Given the description of an element on the screen output the (x, y) to click on. 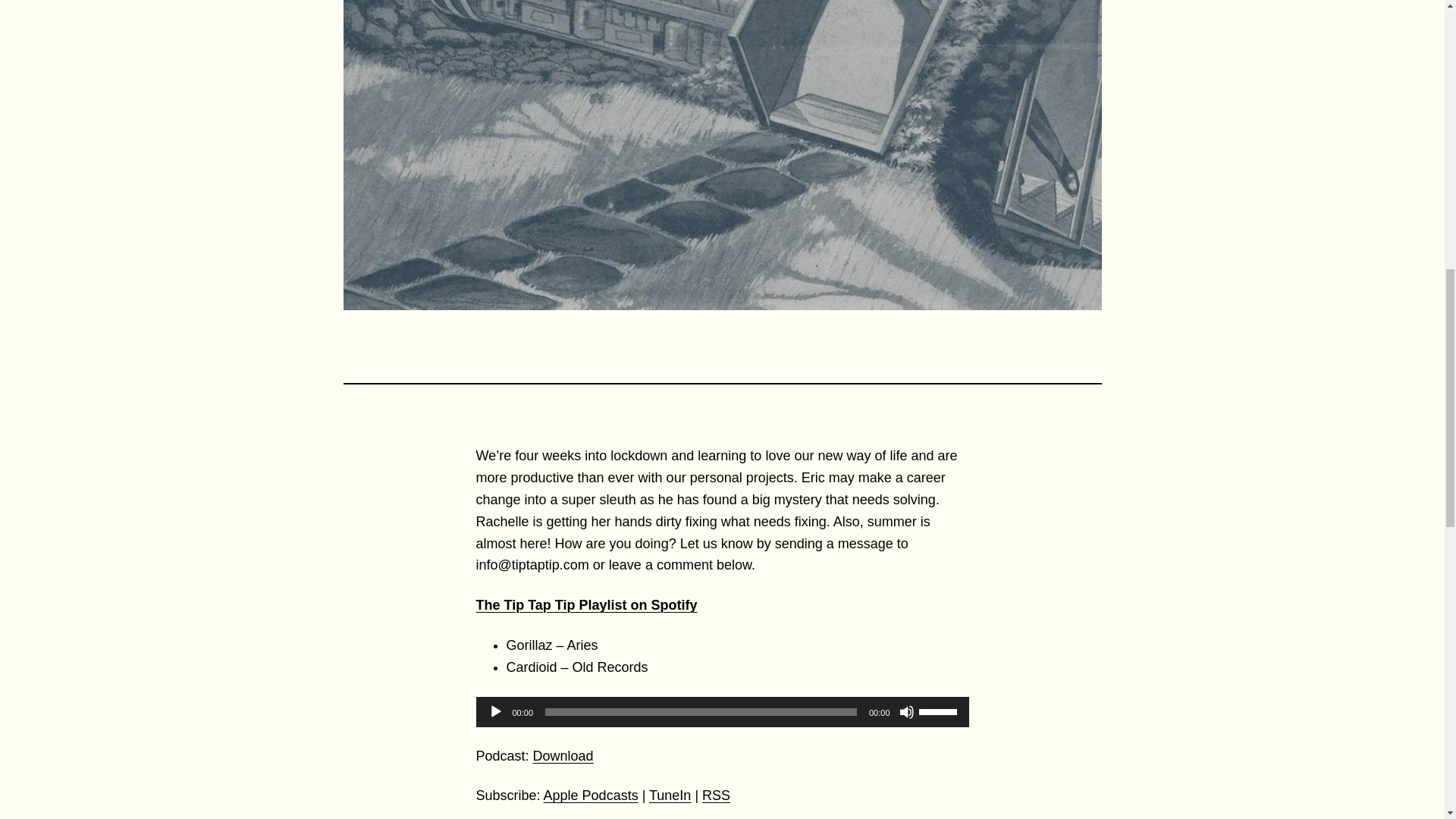
Play (495, 711)
The Tip Tap Tip Playlist on Spo (576, 604)
Subscribe via RSS (715, 795)
Subscribe on Apple Podcasts (591, 795)
Download (563, 755)
tify (687, 604)
Download (563, 755)
Mute (906, 711)
Apple Podcasts (591, 795)
RSS (715, 795)
TuneIn (669, 795)
Subscribe on TuneIn (669, 795)
